Given the description of an element on the screen output the (x, y) to click on. 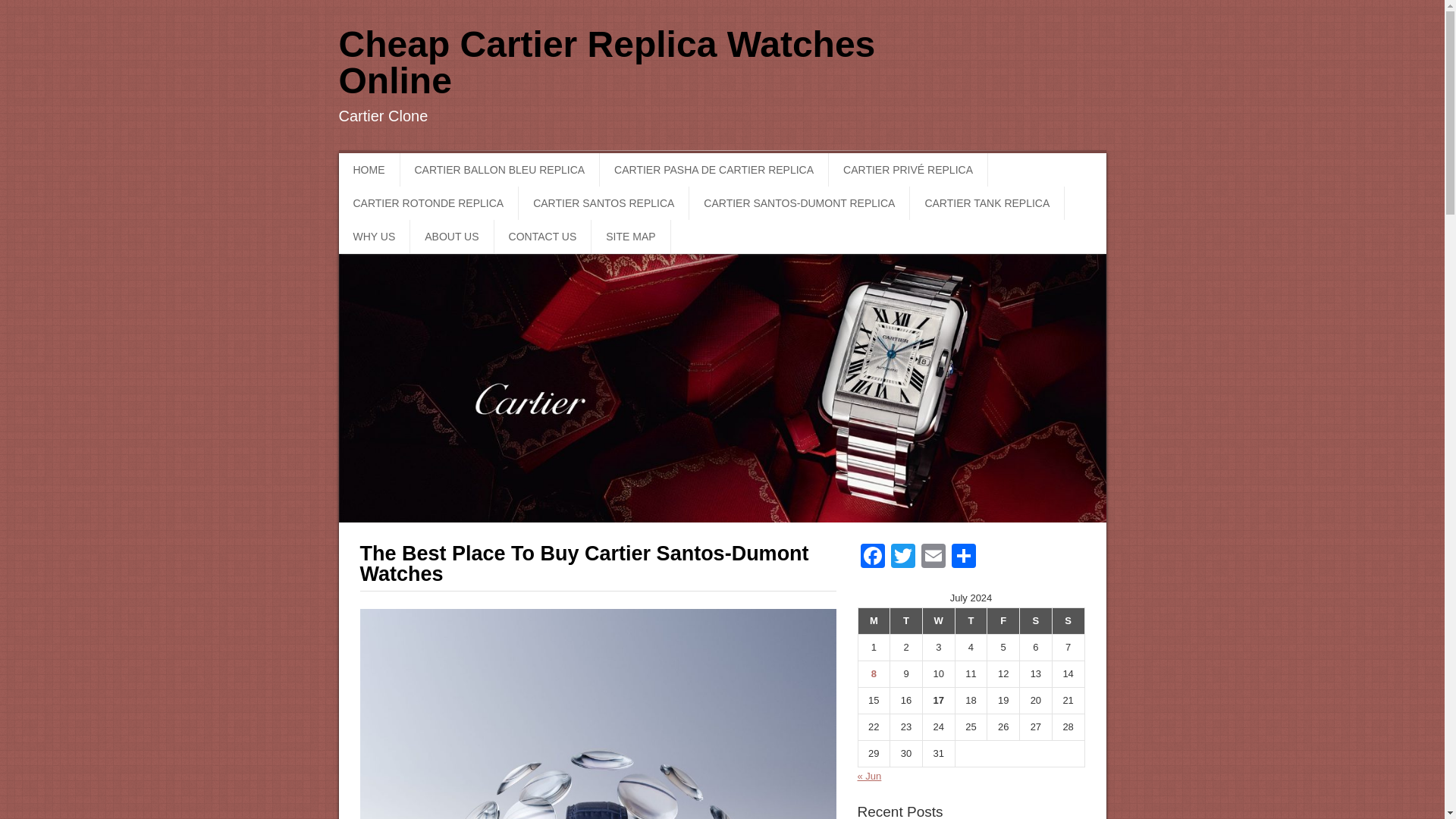
Tuesday (906, 621)
CARTIER TANK REPLICA (987, 203)
Facebook (871, 557)
Cheap Cartier Replica Watches Online (606, 62)
Wednesday (938, 621)
CARTIER SANTOS REPLICA (603, 203)
Thursday (971, 621)
CARTIER ROTONDE REPLICA (427, 203)
CARTIER SANTOS-DUMONT REPLICA (799, 203)
Twitter (901, 557)
Friday (1003, 621)
WHY US (373, 236)
Sunday (1067, 621)
Email (932, 557)
CARTIER PASHA DE CARTIER REPLICA (713, 169)
